Given the description of an element on the screen output the (x, y) to click on. 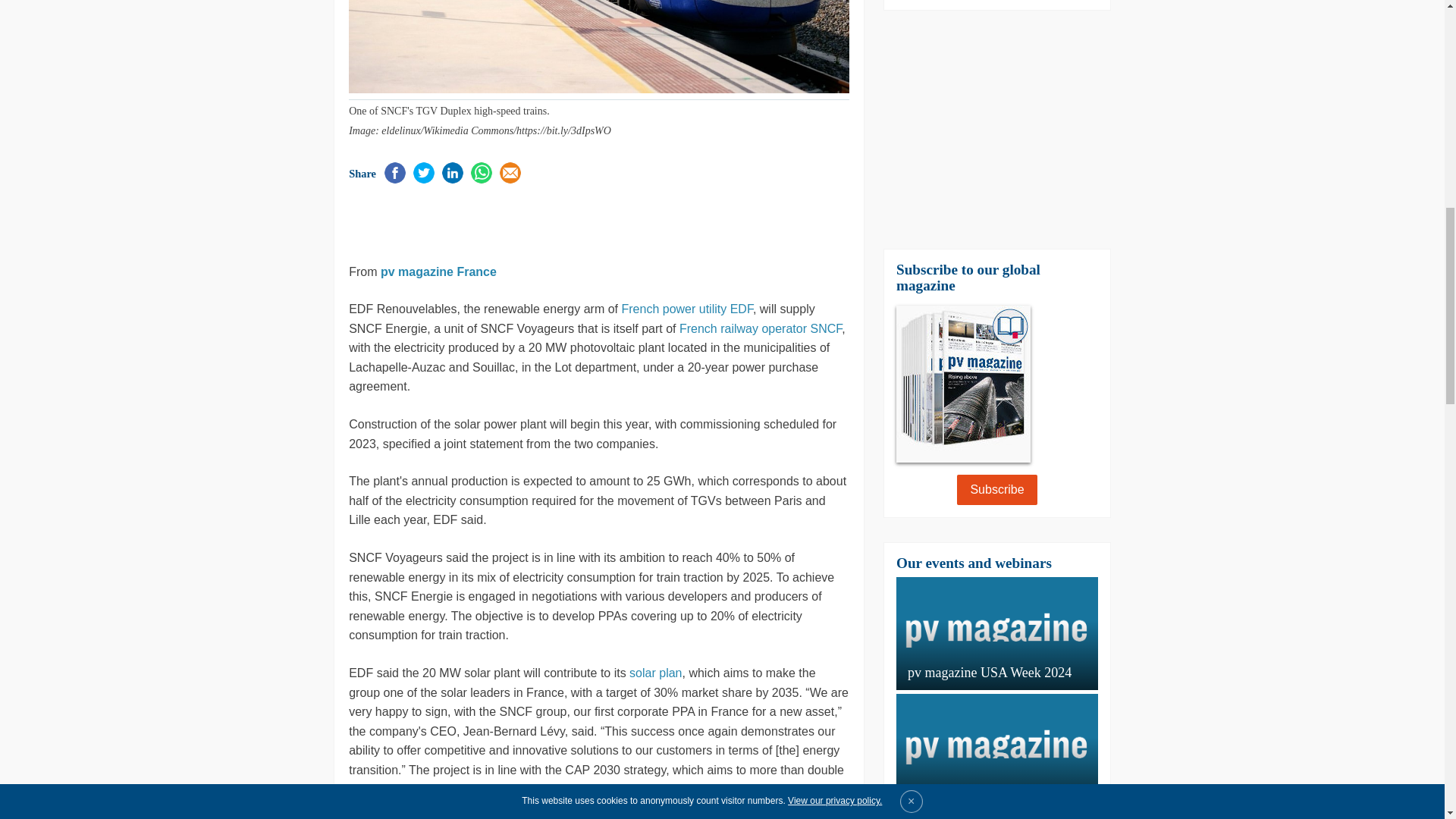
3rd party ad content (996, 129)
3rd party ad content (526, 221)
